Given the description of an element on the screen output the (x, y) to click on. 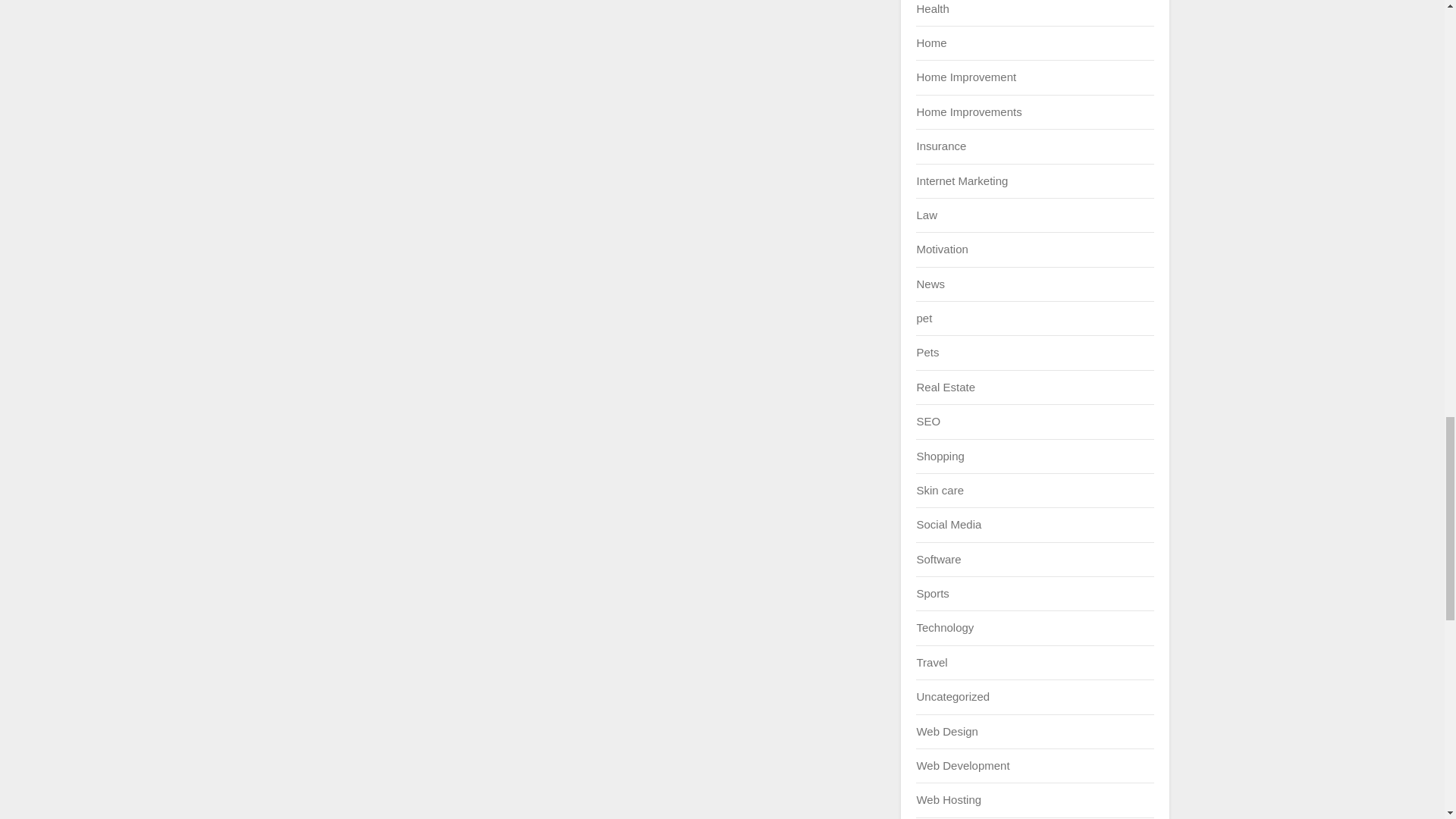
Home Improvement (965, 76)
Health (932, 8)
Home Improvements (968, 111)
Insurance (940, 145)
Home (930, 42)
